Given the description of an element on the screen output the (x, y) to click on. 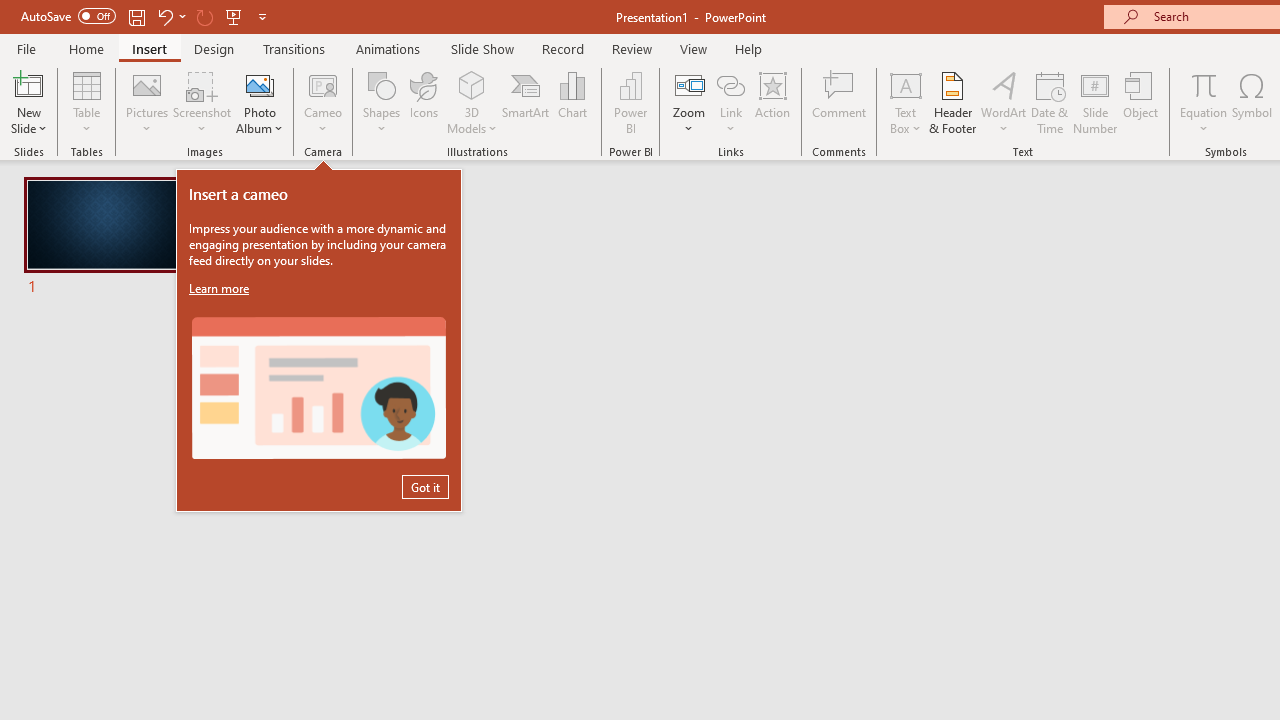
Table (86, 102)
Link (731, 102)
Symbol... (1252, 102)
SmartArt... (525, 102)
Action (772, 102)
Header & Footer... (952, 102)
